Given the description of an element on the screen output the (x, y) to click on. 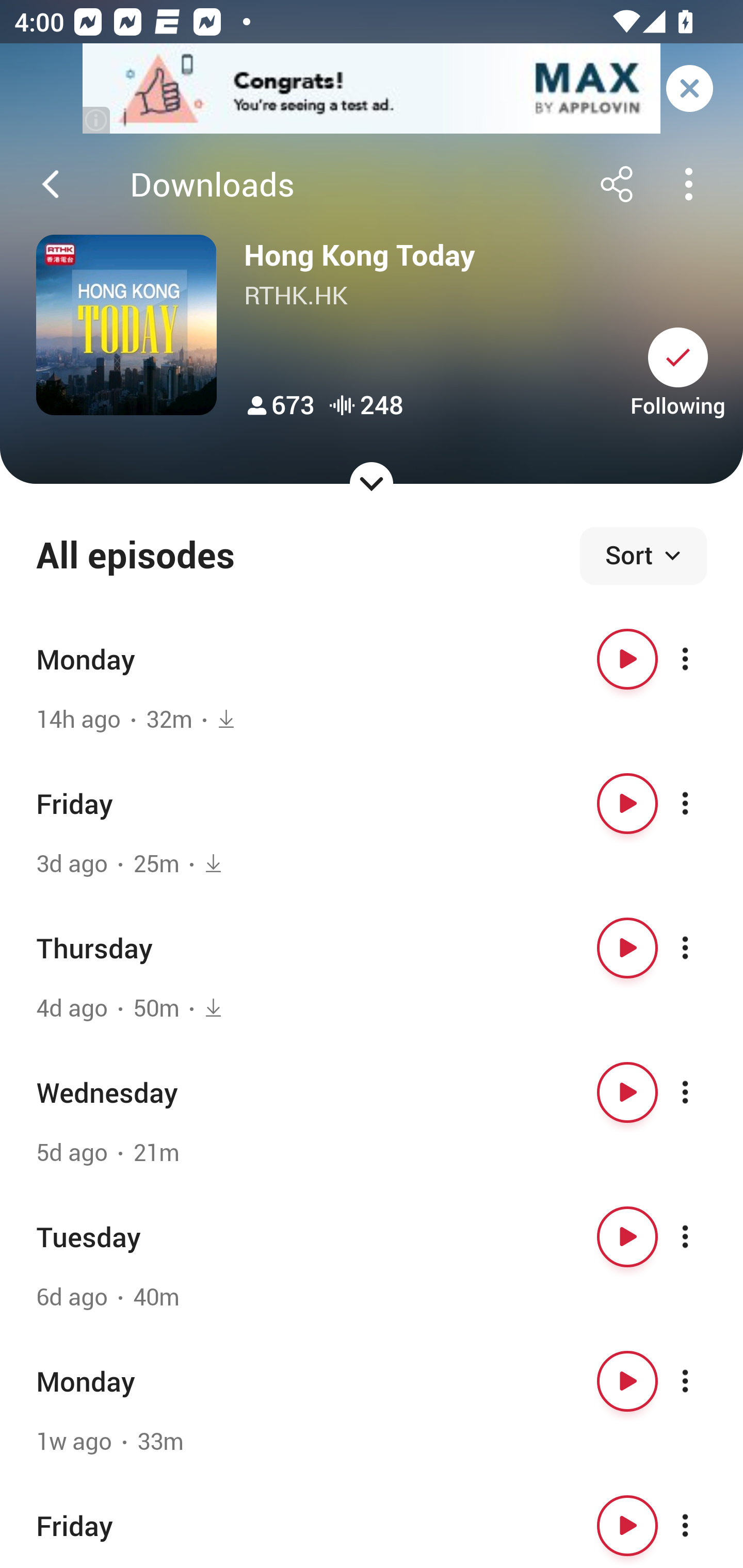
app-monetization (371, 88)
(i) (96, 119)
Back (50, 184)
Unsubscribe button (677, 357)
Sort episodes Sort (643, 555)
Play button (627, 659)
More options (703, 659)
Play button (627, 803)
More options (703, 803)
Play button (627, 947)
More options (703, 947)
Play button (627, 1092)
More options (703, 1092)
Play button (627, 1236)
More options (703, 1236)
Play button (627, 1381)
More options (703, 1381)
Play button (627, 1525)
More options (703, 1525)
